Given the description of an element on the screen output the (x, y) to click on. 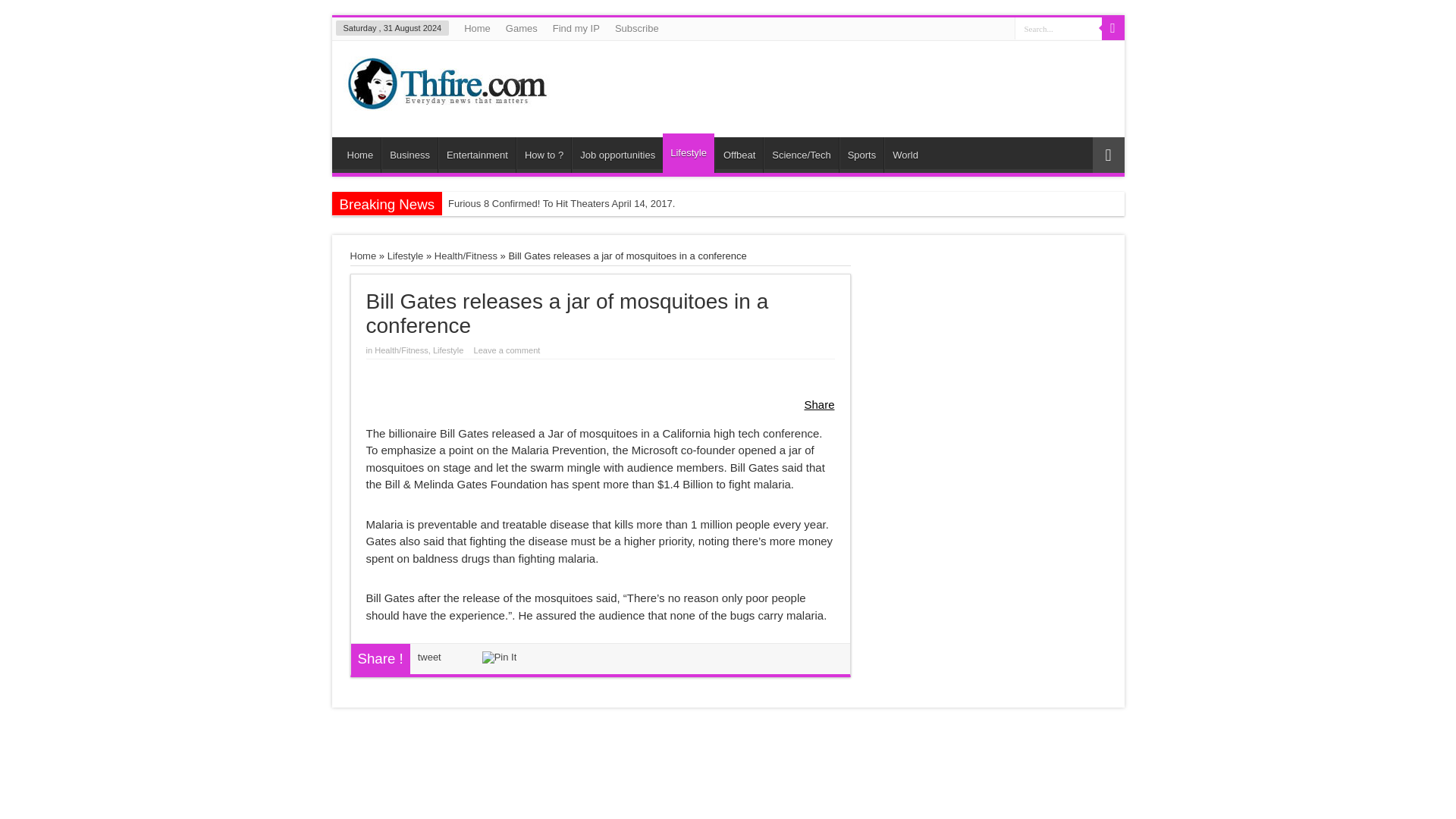
Kawhi Leonard Named NBA Defensive Player of the Year 2015-16 (596, 227)
Search (1112, 28)
Search... (1058, 28)
Home (363, 255)
World (904, 154)
Pin It (498, 657)
Job opportunities (617, 154)
Random Article (1108, 154)
Furious 8 Confirmed! To Hit Theaters April 14, 2017. (596, 203)
